Given the description of an element on the screen output the (x, y) to click on. 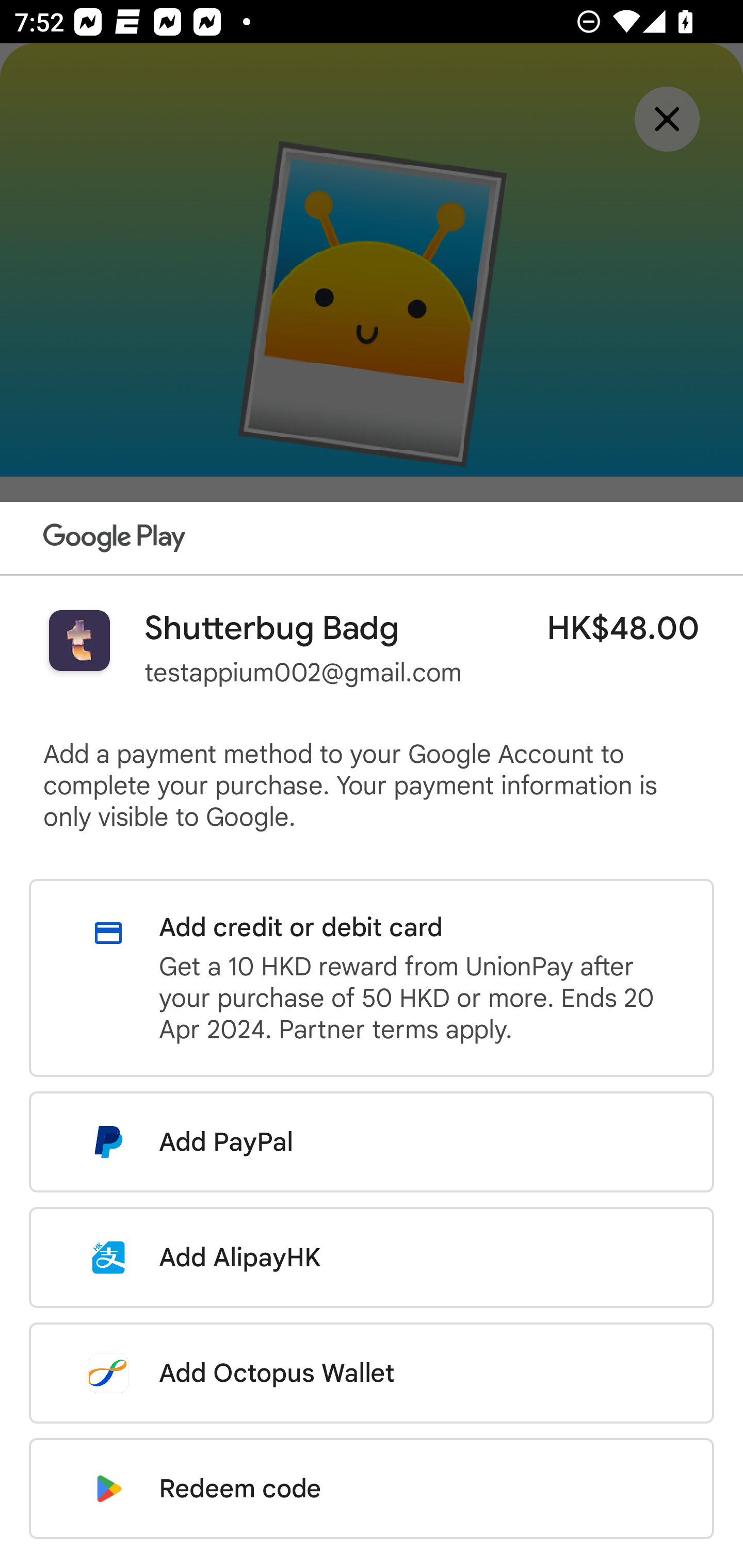
Add PayPal (371, 1142)
Add AlipayHK (371, 1257)
Add Octopus Wallet (371, 1372)
Redeem code (371, 1488)
